Given the description of an element on the screen output the (x, y) to click on. 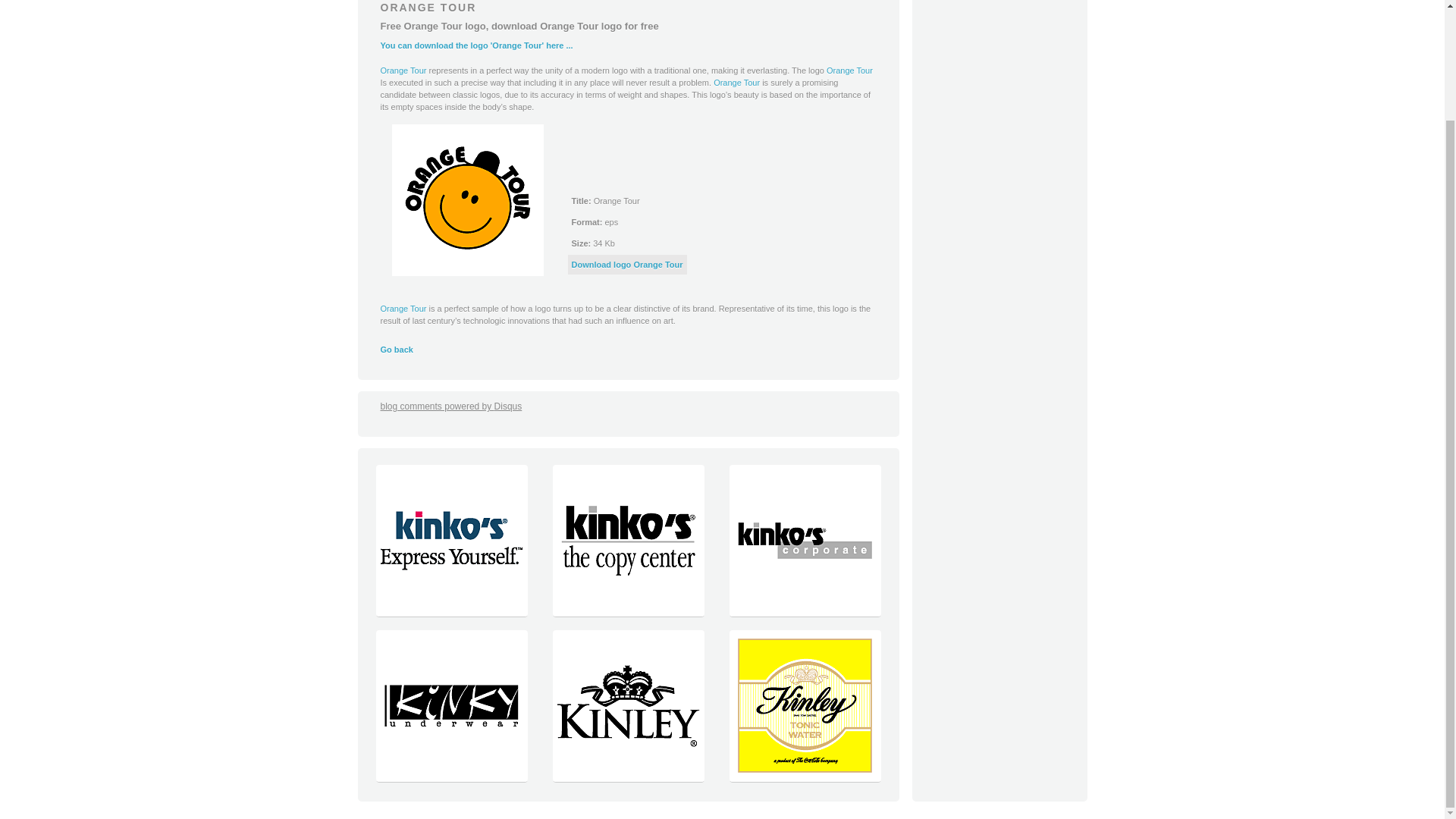
Orange Tour (849, 70)
Download Logo Kinky Underwear (450, 778)
Download Orange Tour (467, 200)
Download Logo Kinko s (804, 612)
Orange Tour (403, 70)
Download Logo Kinko s (450, 612)
Download Logo Kinley (627, 778)
Orange Tour (403, 70)
Orange Tour (403, 307)
You can download the logo 'Orange Tour' here ... (476, 44)
